Given the description of an element on the screen output the (x, y) to click on. 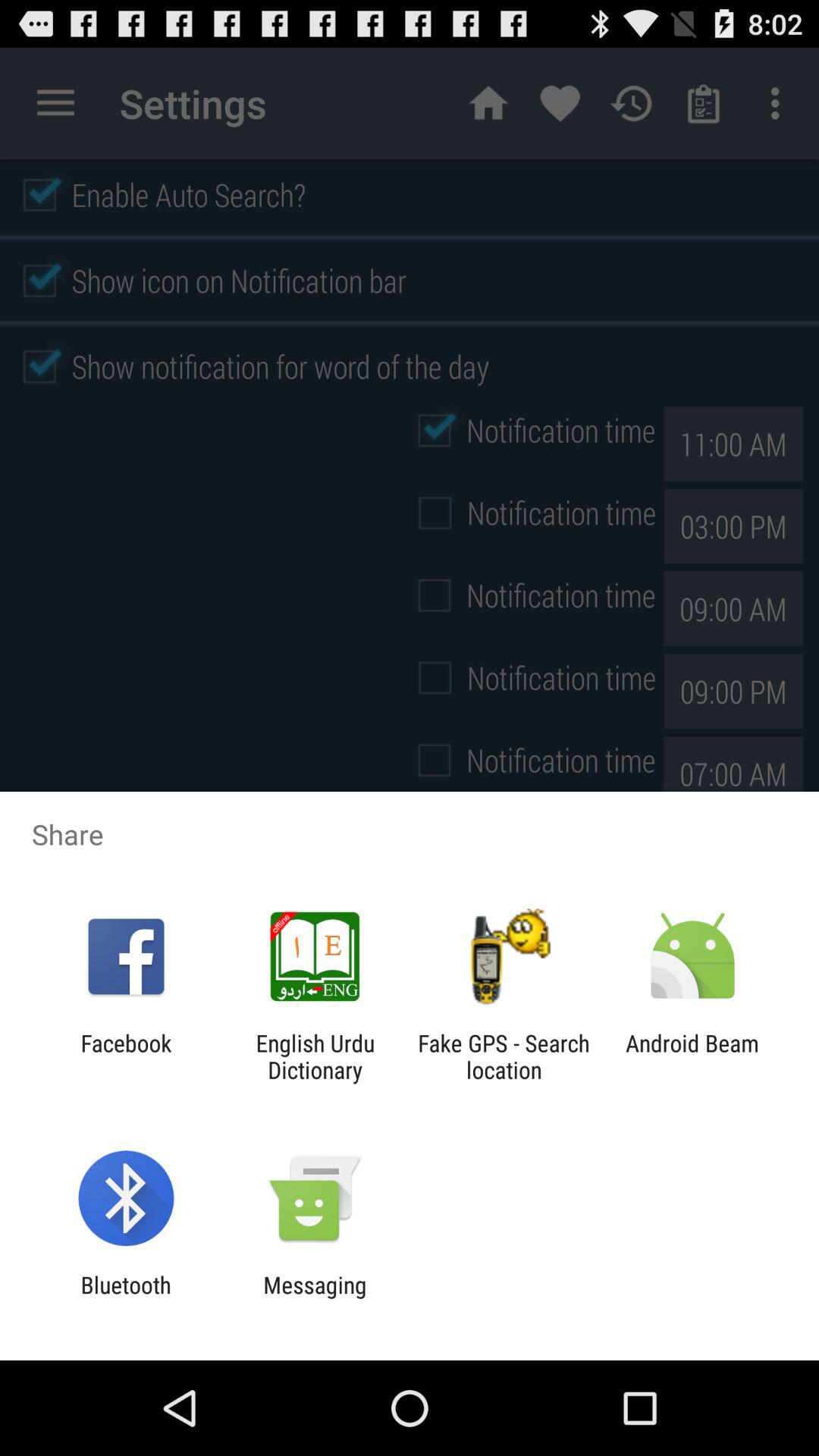
swipe to android beam icon (692, 1056)
